Given the description of an element on the screen output the (x, y) to click on. 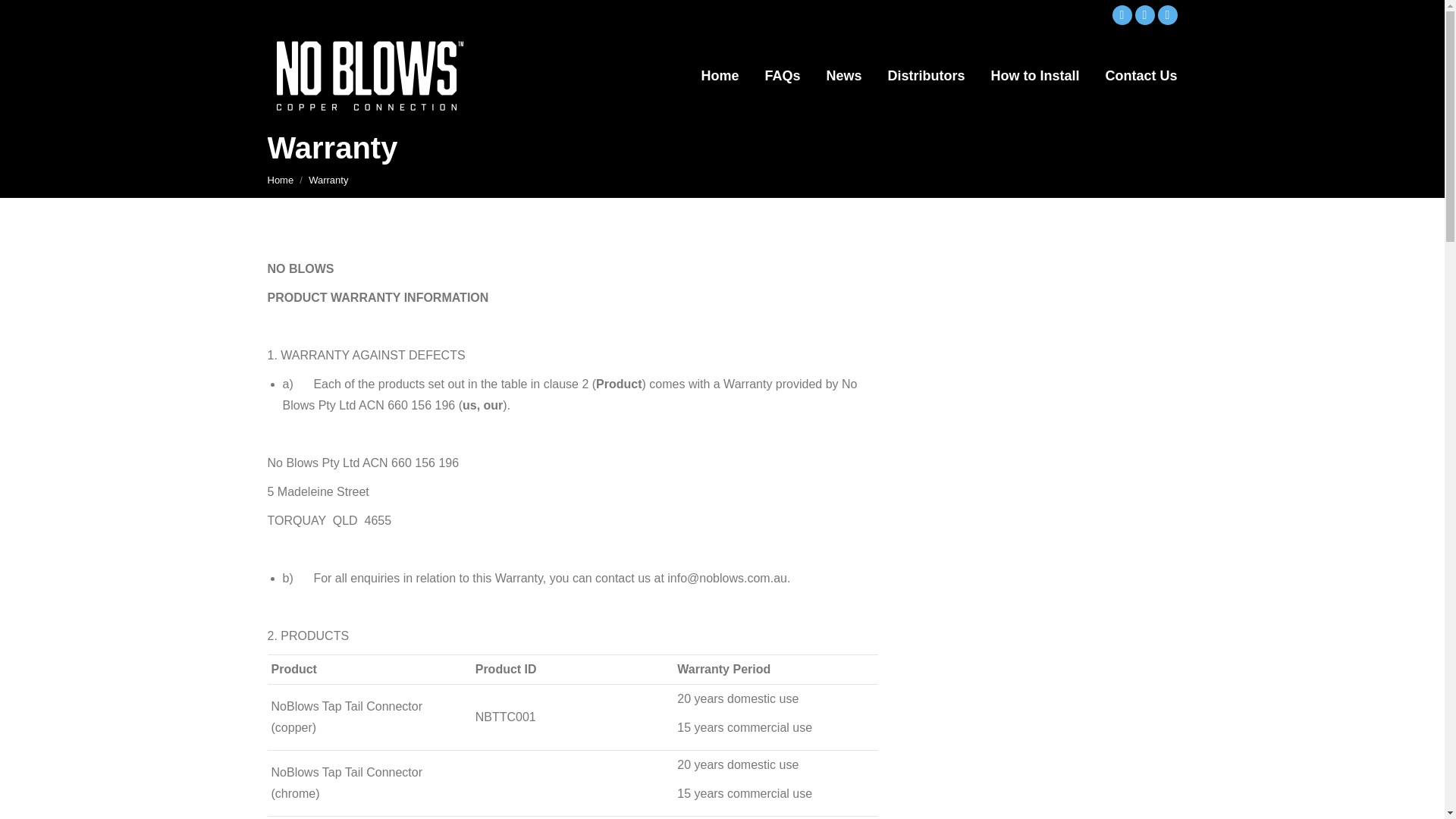
Instagram page opens in new window (1144, 14)
Home (280, 179)
Home (280, 179)
Contact Us (1140, 75)
Facebook page opens in new window (1121, 14)
YouTube page opens in new window (1166, 14)
Instagram page opens in new window (1144, 14)
YouTube page opens in new window (1166, 14)
Facebook page opens in new window (1121, 14)
Distributors (924, 75)
How to Install (1034, 75)
